Given the description of an element on the screen output the (x, y) to click on. 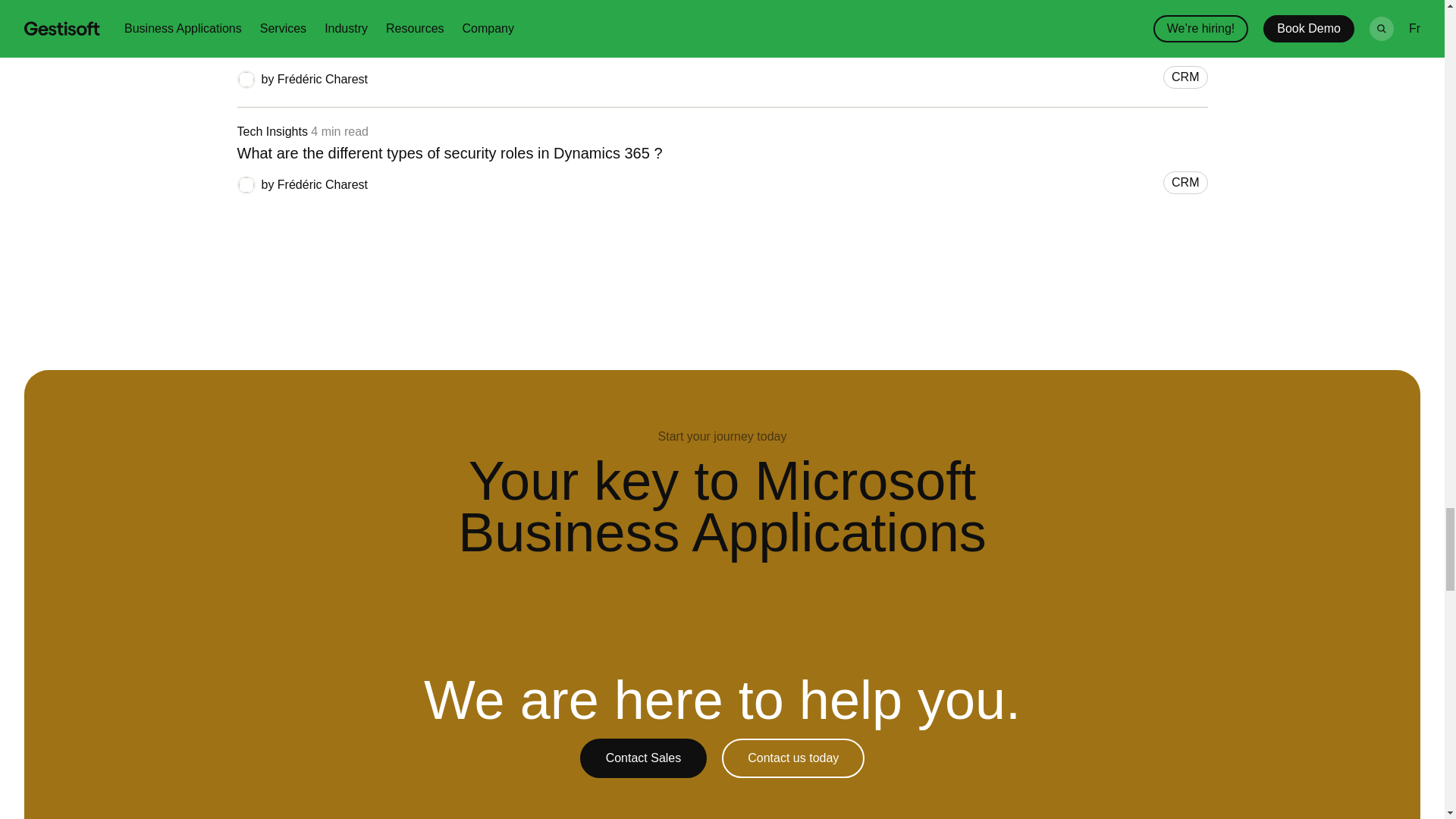
CRM (1185, 77)
Contact Sales (643, 758)
CRM (1185, 182)
